Given the description of an element on the screen output the (x, y) to click on. 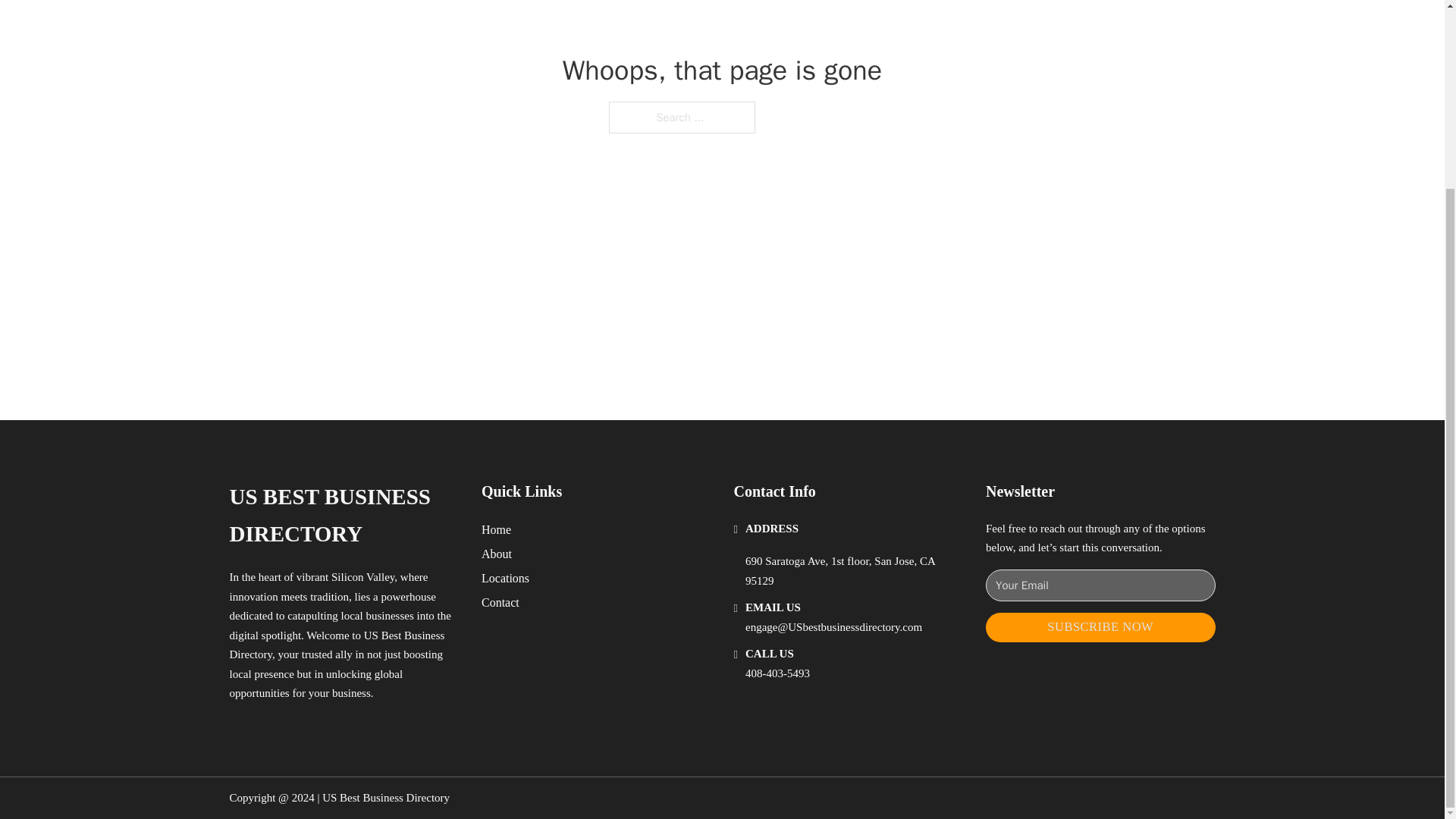
408-403-5493 (777, 673)
About (496, 553)
US BEST BUSINESS DIRECTORY (343, 515)
Locations (505, 578)
Home (496, 529)
SUBSCRIBE NOW (1100, 627)
Contact (500, 602)
